Given the description of an element on the screen output the (x, y) to click on. 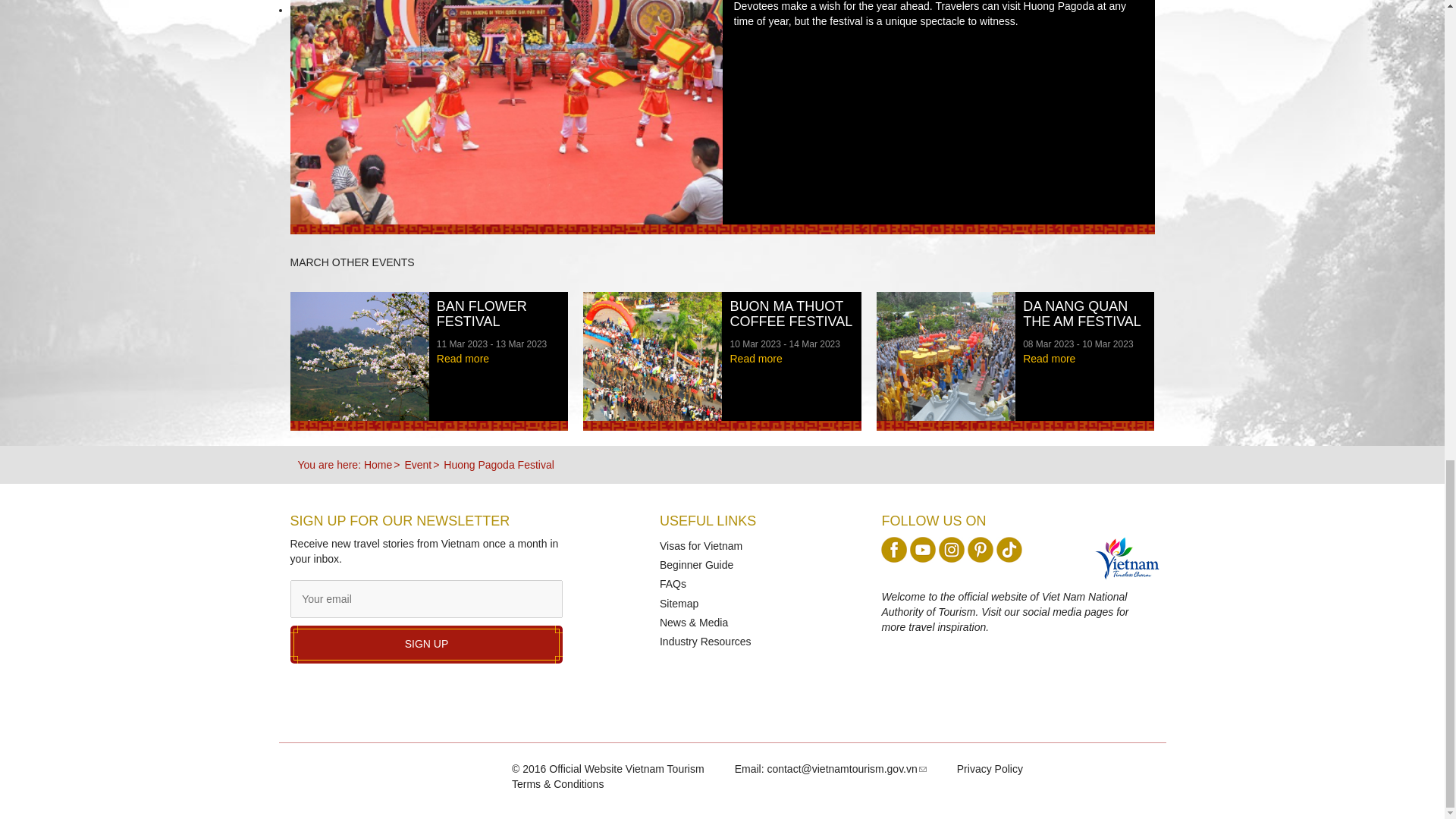
Youtube (923, 549)
Instagram (951, 549)
TikTok (1008, 549)
Industry Resources (705, 641)
Beginner Guide (696, 564)
Privacy Policy (989, 768)
FAQs (672, 583)
Sitemap (678, 603)
Facebook (893, 549)
Visas for Vietnam (700, 545)
Pinterest (980, 549)
